Given the description of an element on the screen output the (x, y) to click on. 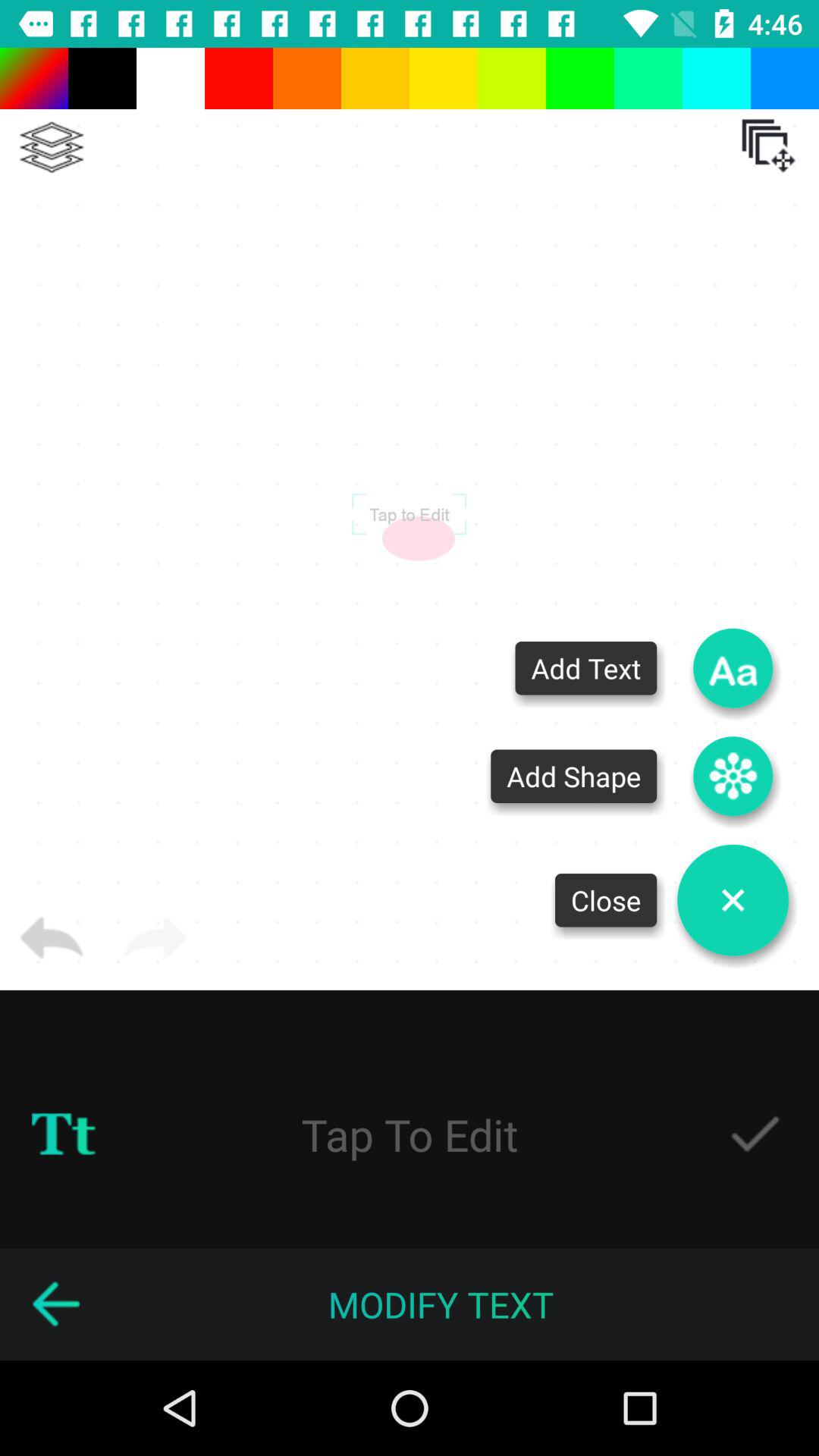
it provides to add more shape (733, 776)
